Given the description of an element on the screen output the (x, y) to click on. 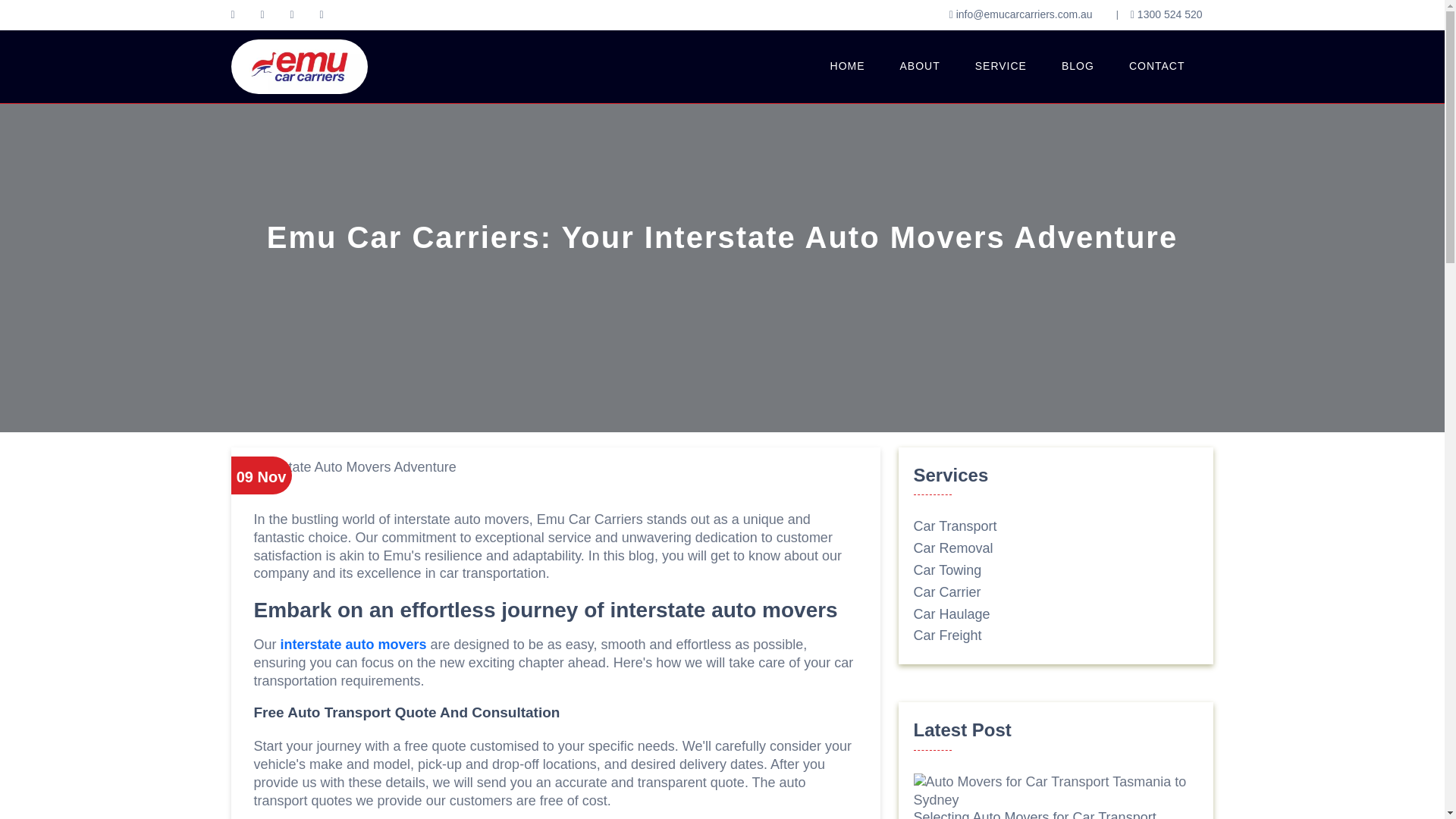
Car Transport (953, 525)
CONTACT (1156, 66)
Car Haulage (951, 613)
Car Towing (946, 570)
interstate auto movers (353, 644)
Selecting Auto Movers for Car Transport Tasmania to Sydney (1034, 814)
SERVICE (1000, 66)
Car Carrier (945, 591)
1300 524 520 (1166, 14)
Car Removal (952, 548)
